Given the description of an element on the screen output the (x, y) to click on. 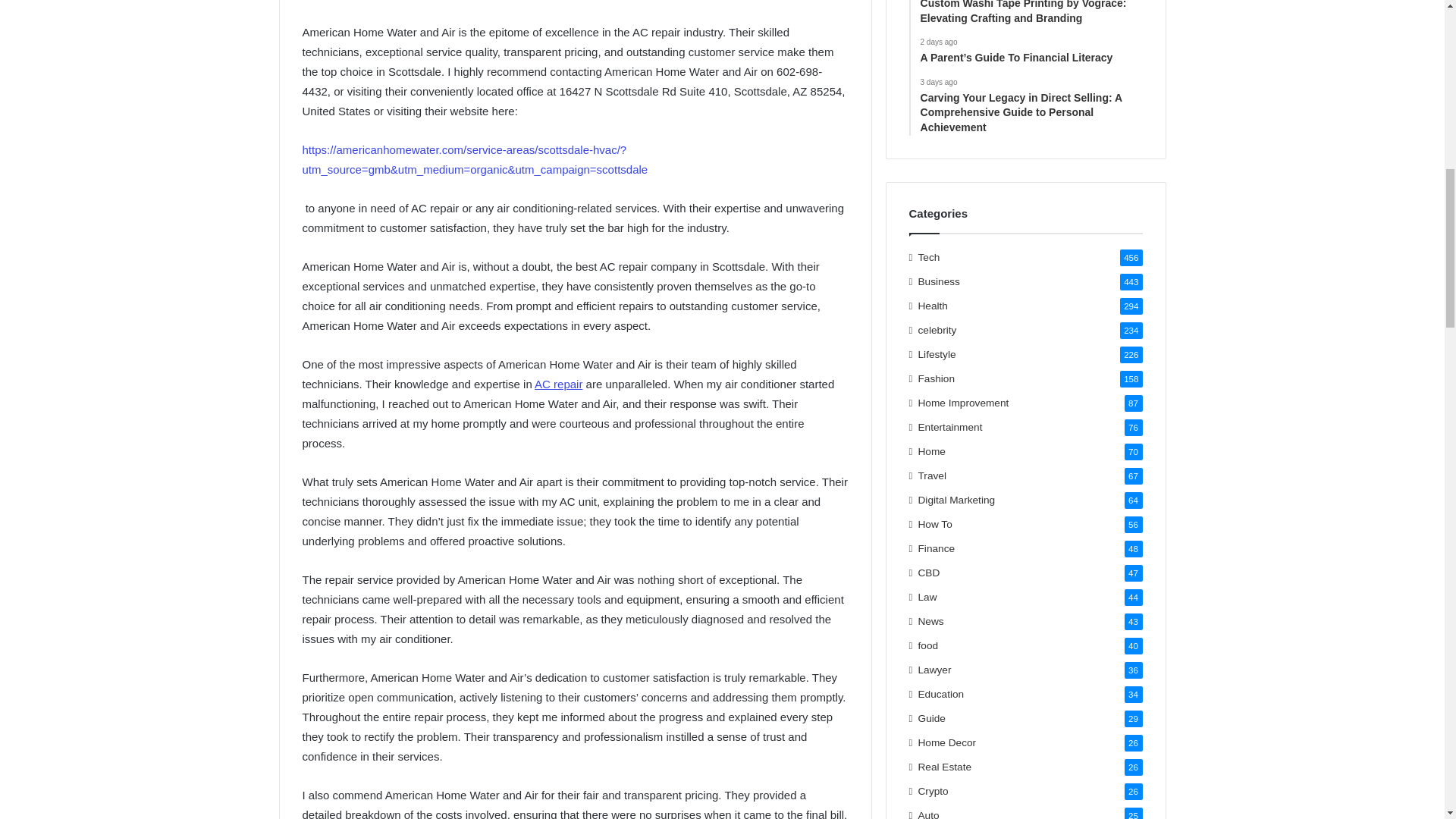
AC repair (558, 383)
